Given the description of an element on the screen output the (x, y) to click on. 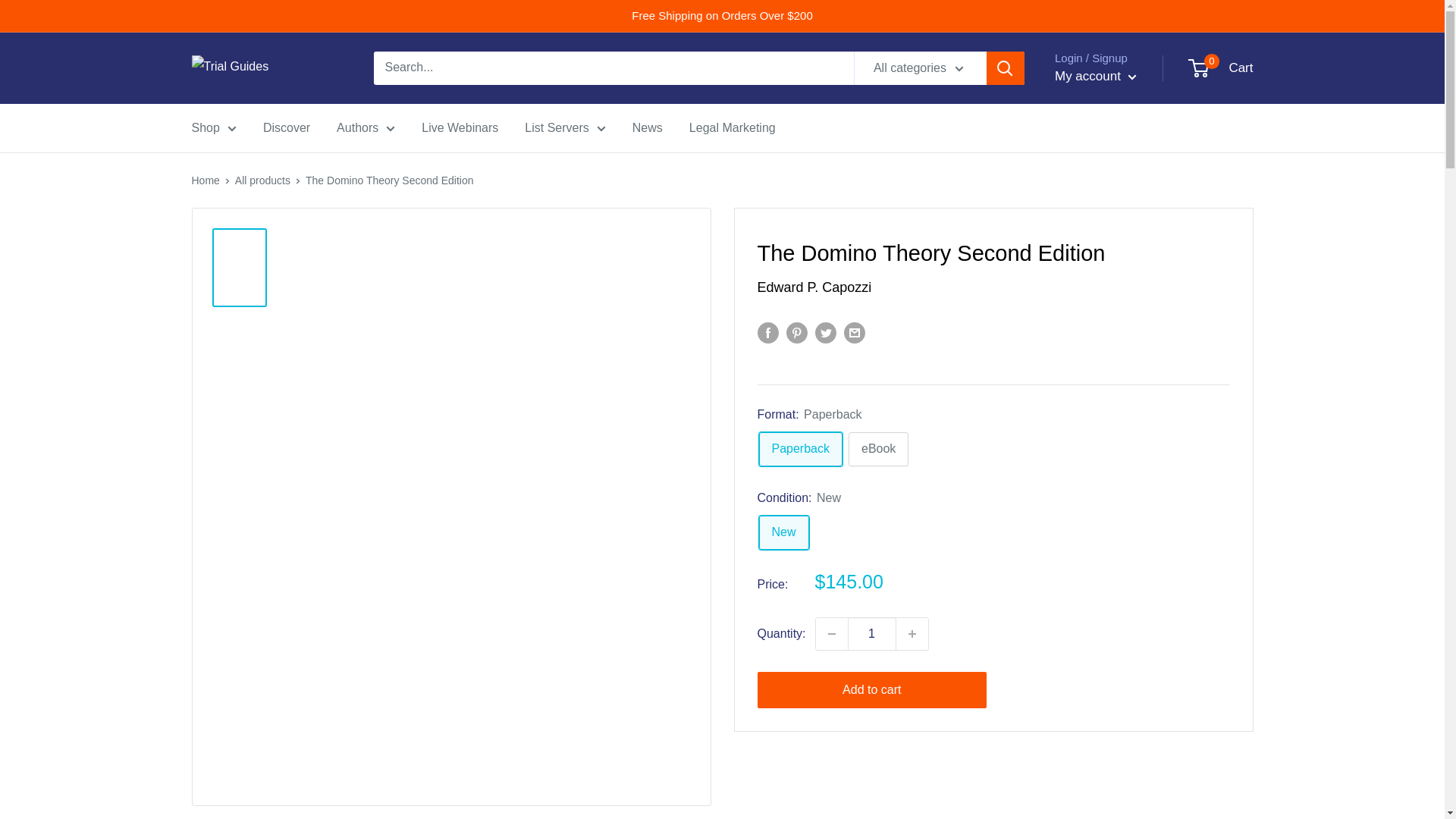
Decrease quantity by 1 (831, 634)
Paperback (800, 449)
New (783, 532)
Increase quantity by 1 (912, 634)
Trial Guides (266, 68)
eBook (878, 449)
1 (871, 634)
